Given the description of an element on the screen output the (x, y) to click on. 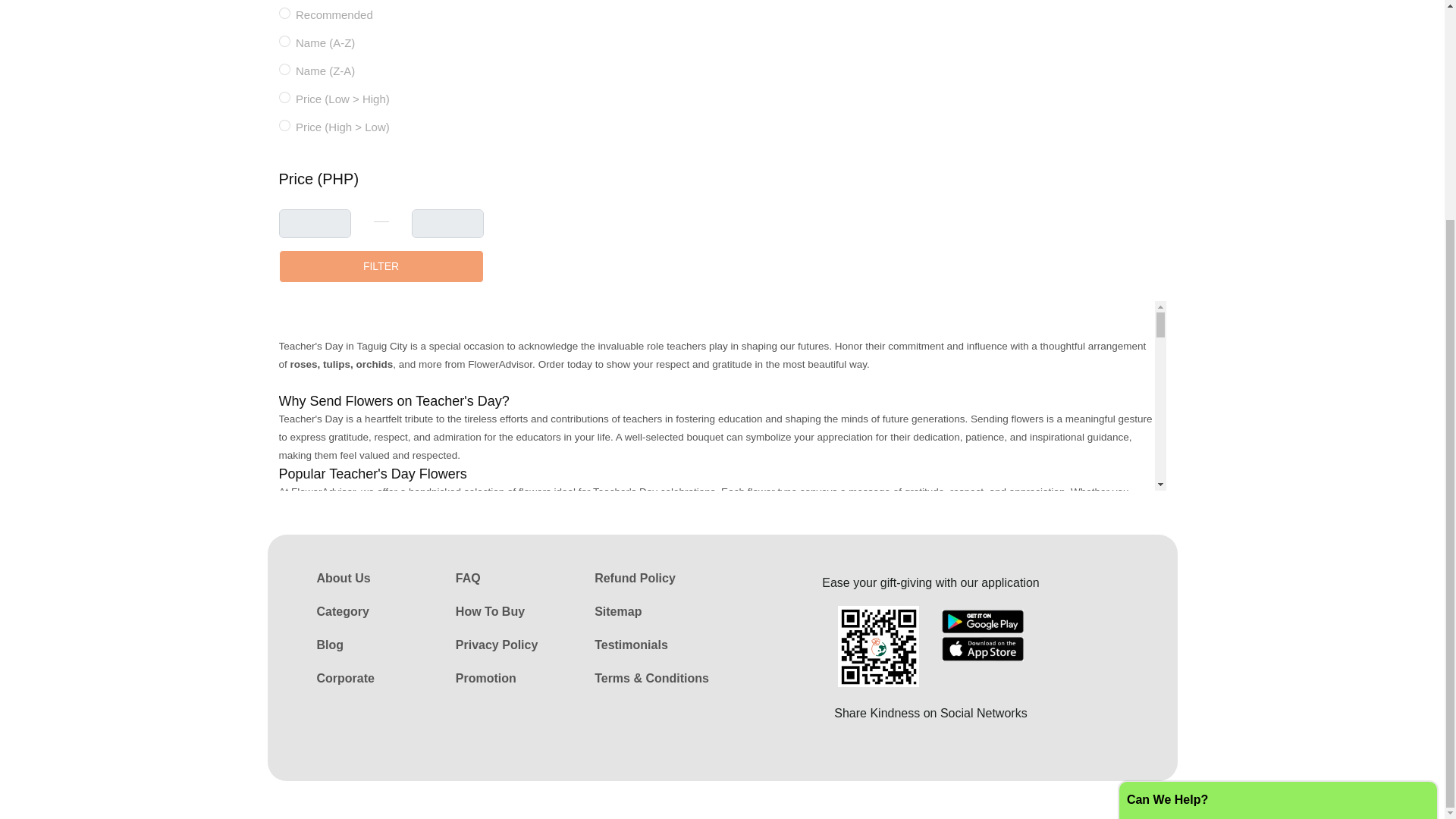
ei10by1h (284, 69)
YS10by16 (284, 41)
